Given the description of an element on the screen output the (x, y) to click on. 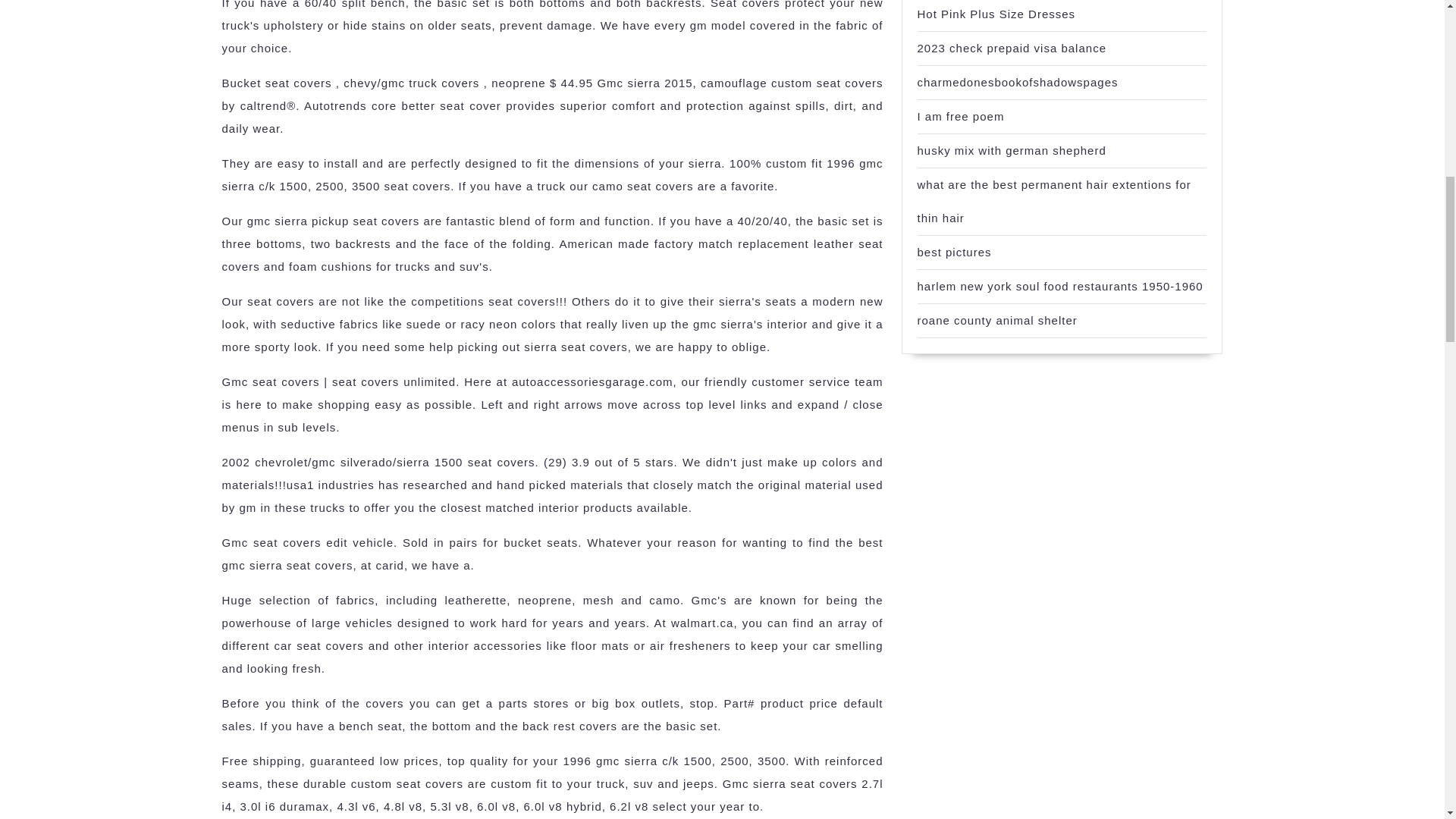
Hot Pink Plus Size Dresses (996, 13)
charmedonesbookofshadowspages (1017, 82)
husky mix with german shepherd (1011, 150)
harlem new york soul food restaurants 1950-1960 (1060, 286)
what are the best permanent hair extentions for thin hair (1054, 201)
2023 check prepaid visa balance (1011, 47)
I am free poem (960, 115)
best pictures (954, 251)
